Given the description of an element on the screen output the (x, y) to click on. 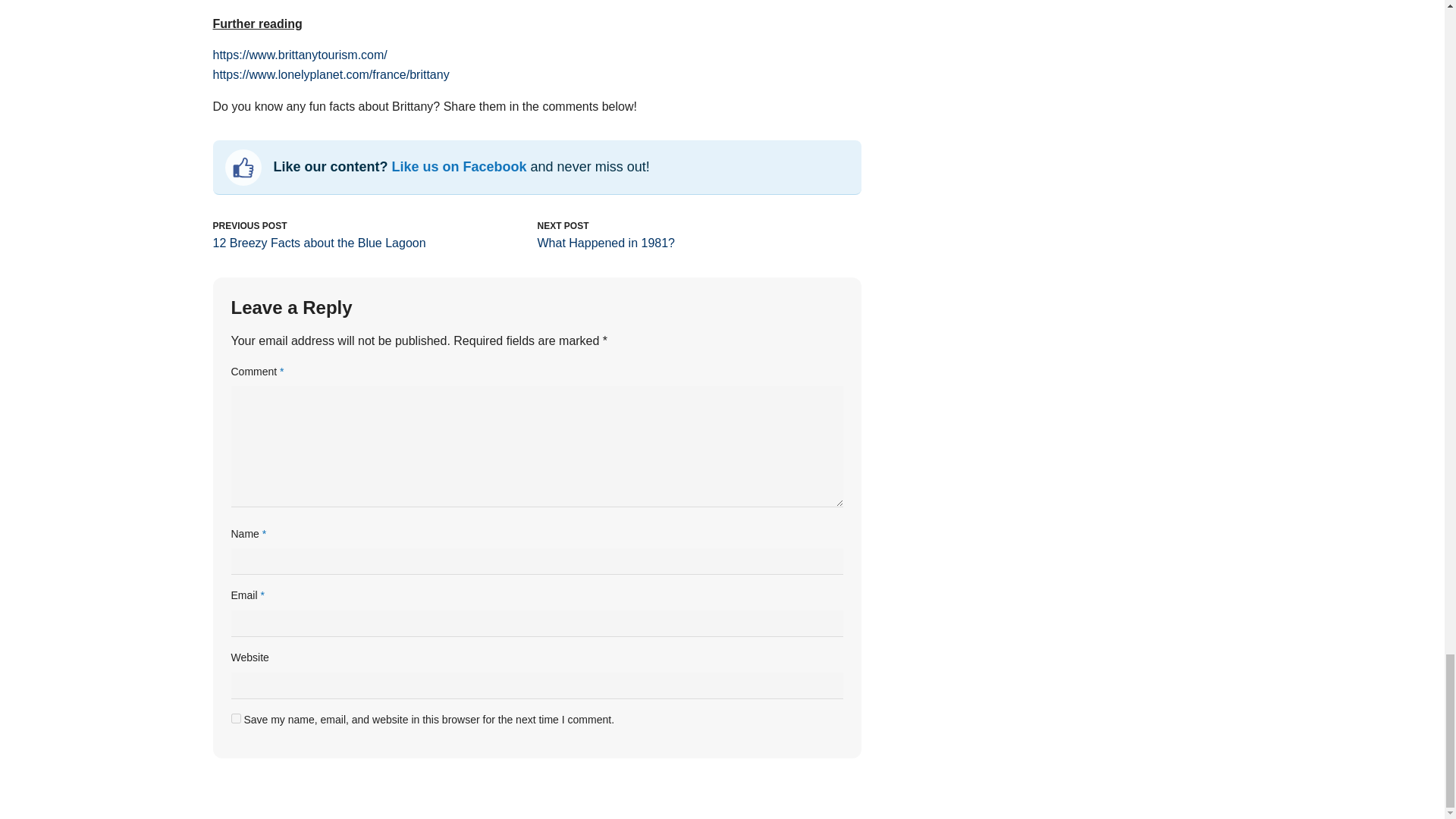
Like us on Facebook (459, 166)
yes (235, 718)
12 Breezy Facts about the Blue Lagoon (318, 242)
What Happened in 1981? (605, 242)
